Given the description of an element on the screen output the (x, y) to click on. 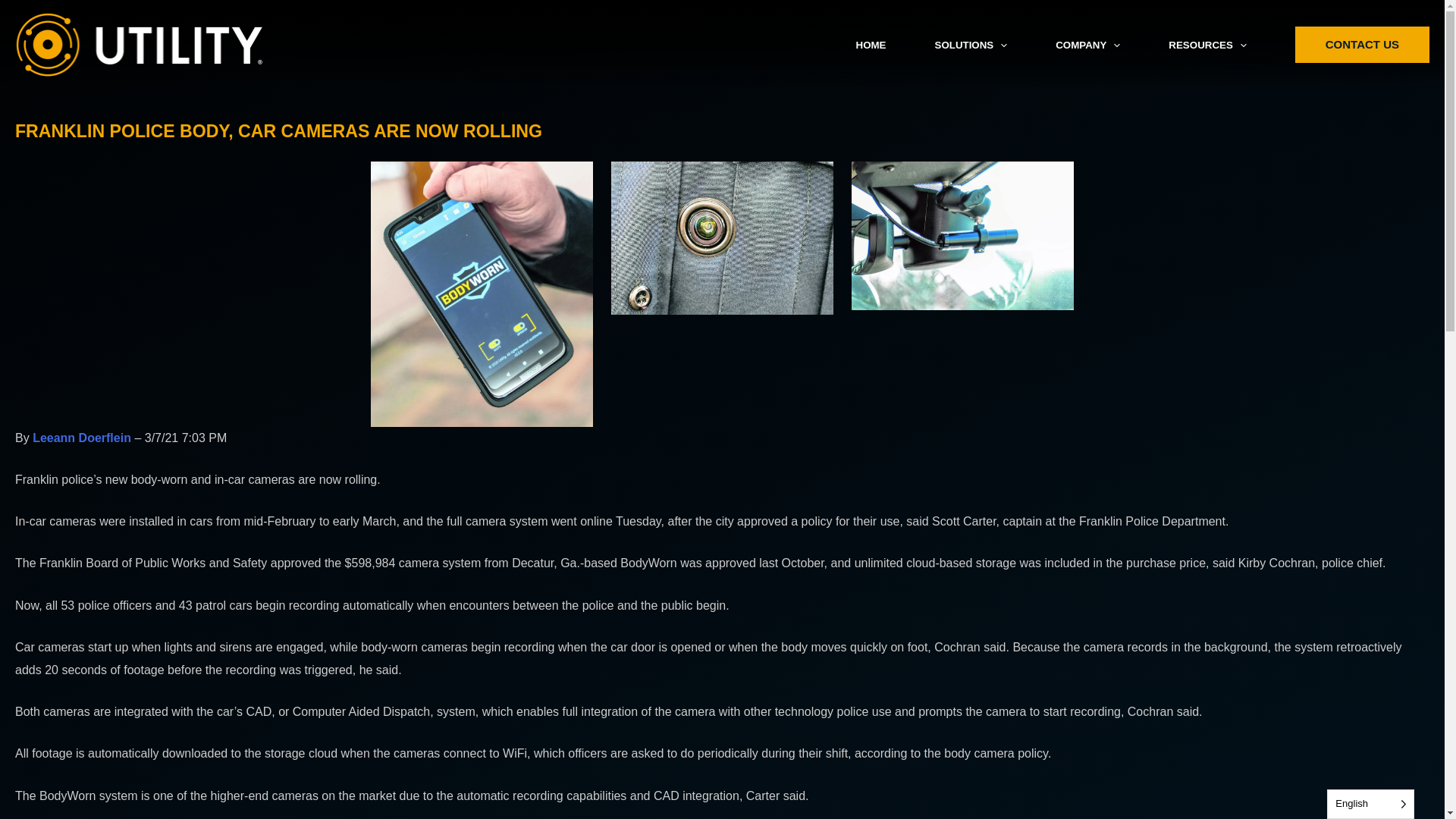
RESOURCES (1206, 46)
SOLUTIONS (970, 46)
HOME (870, 46)
COMPANY (1088, 46)
